Given the description of an element on the screen output the (x, y) to click on. 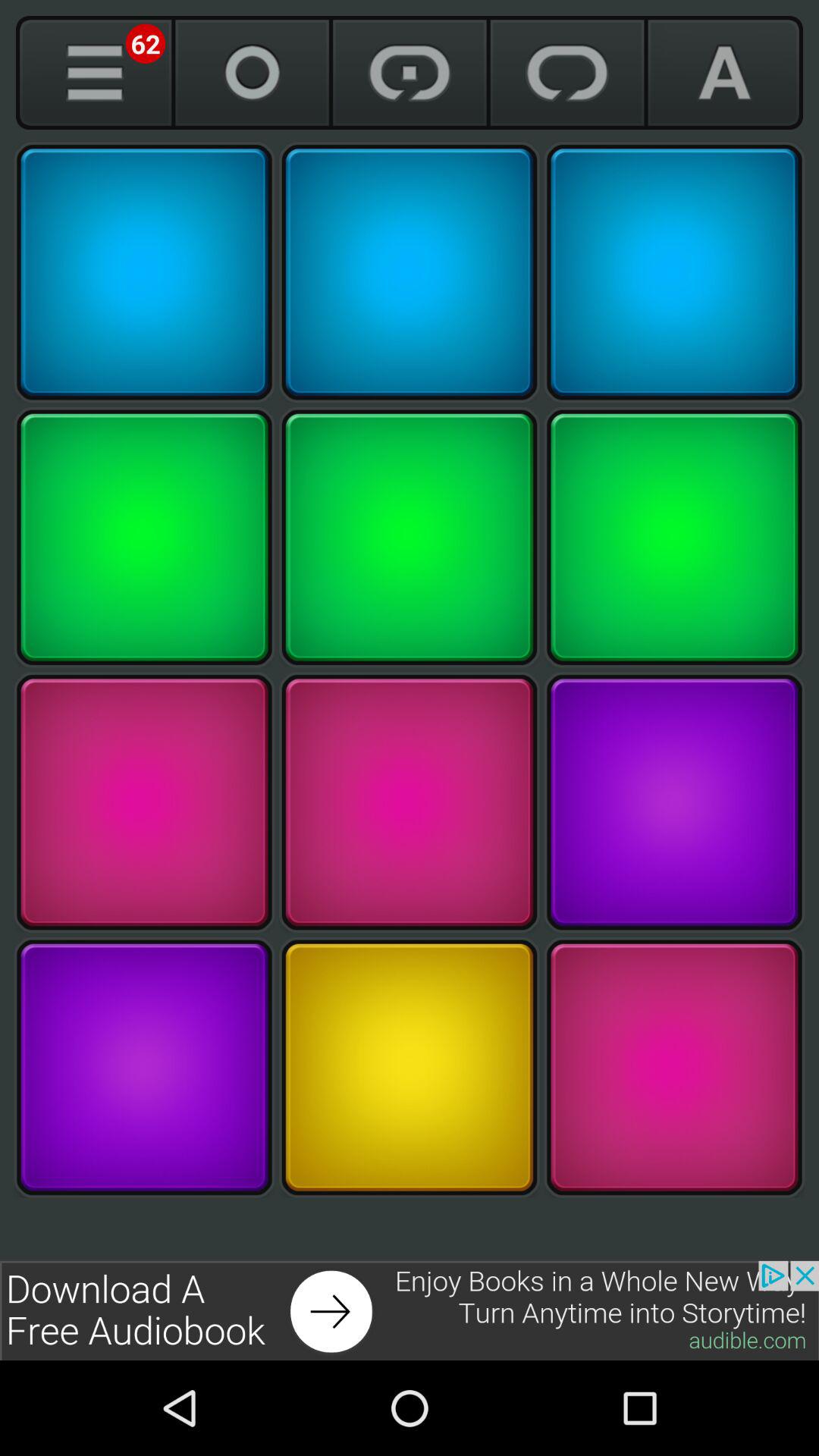
select box in 3rd row of 3rd column (674, 802)
